Given the description of an element on the screen output the (x, y) to click on. 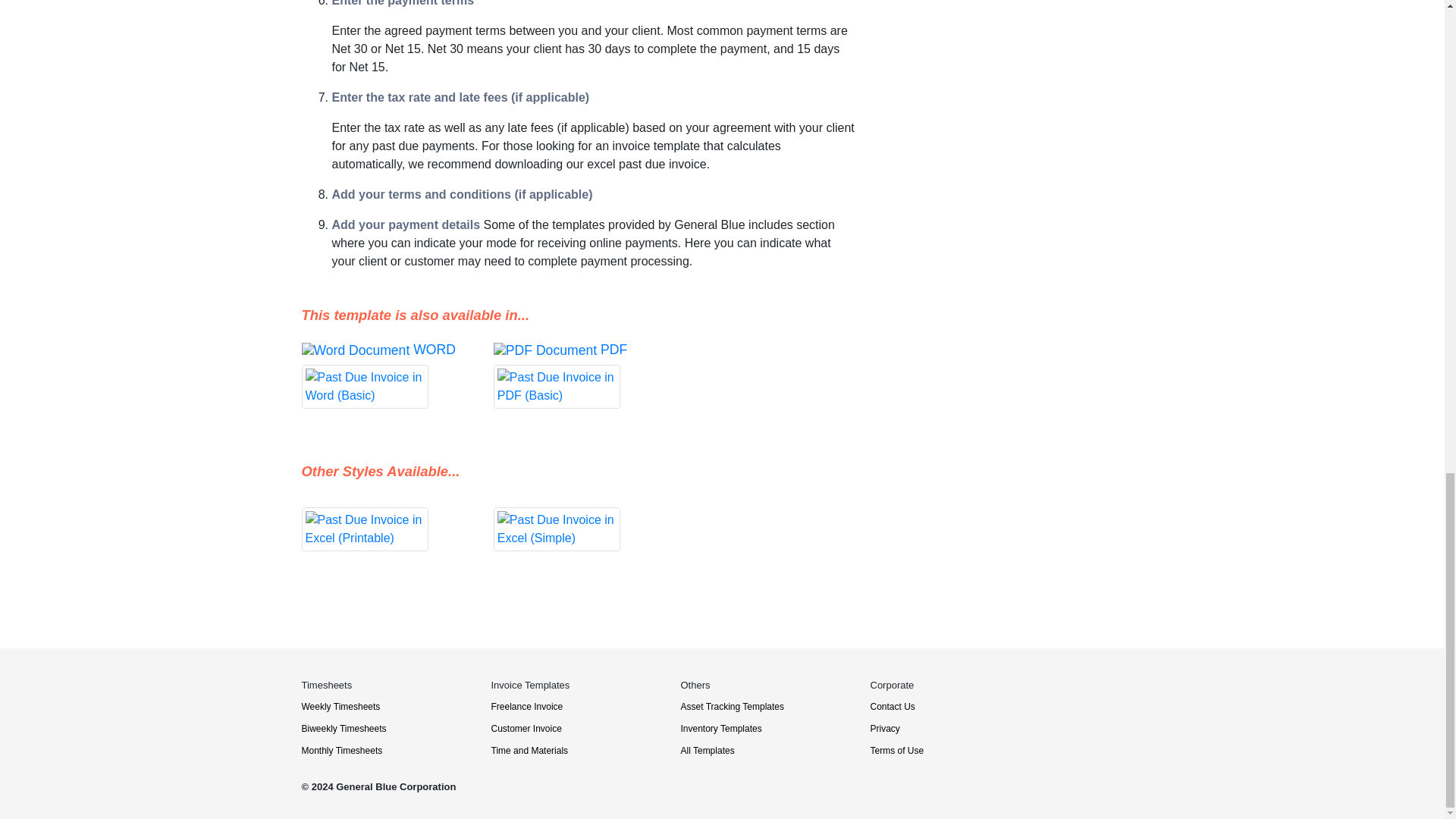
PDF (577, 375)
Privacy (884, 728)
past due invoice template in Word (385, 375)
Customer Invoice (527, 728)
past due invoice template in PDF (577, 375)
Freelance Invoice (527, 706)
Contact Us (892, 706)
Time and Materials (530, 750)
Weekly Timesheets (340, 706)
Monthly Timesheets (341, 750)
